Given the description of an element on the screen output the (x, y) to click on. 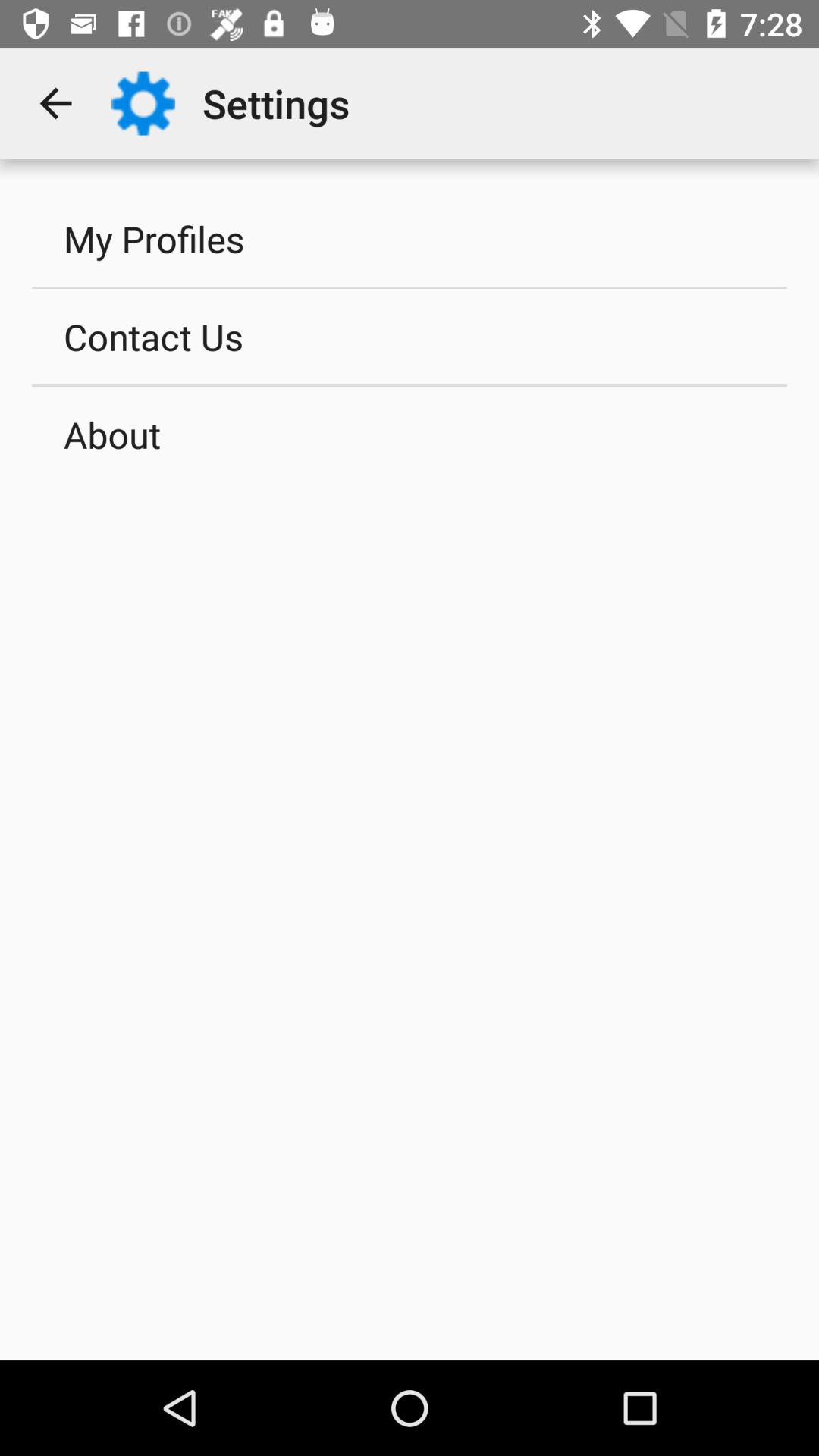
flip to my profiles (409, 238)
